Given the description of an element on the screen output the (x, y) to click on. 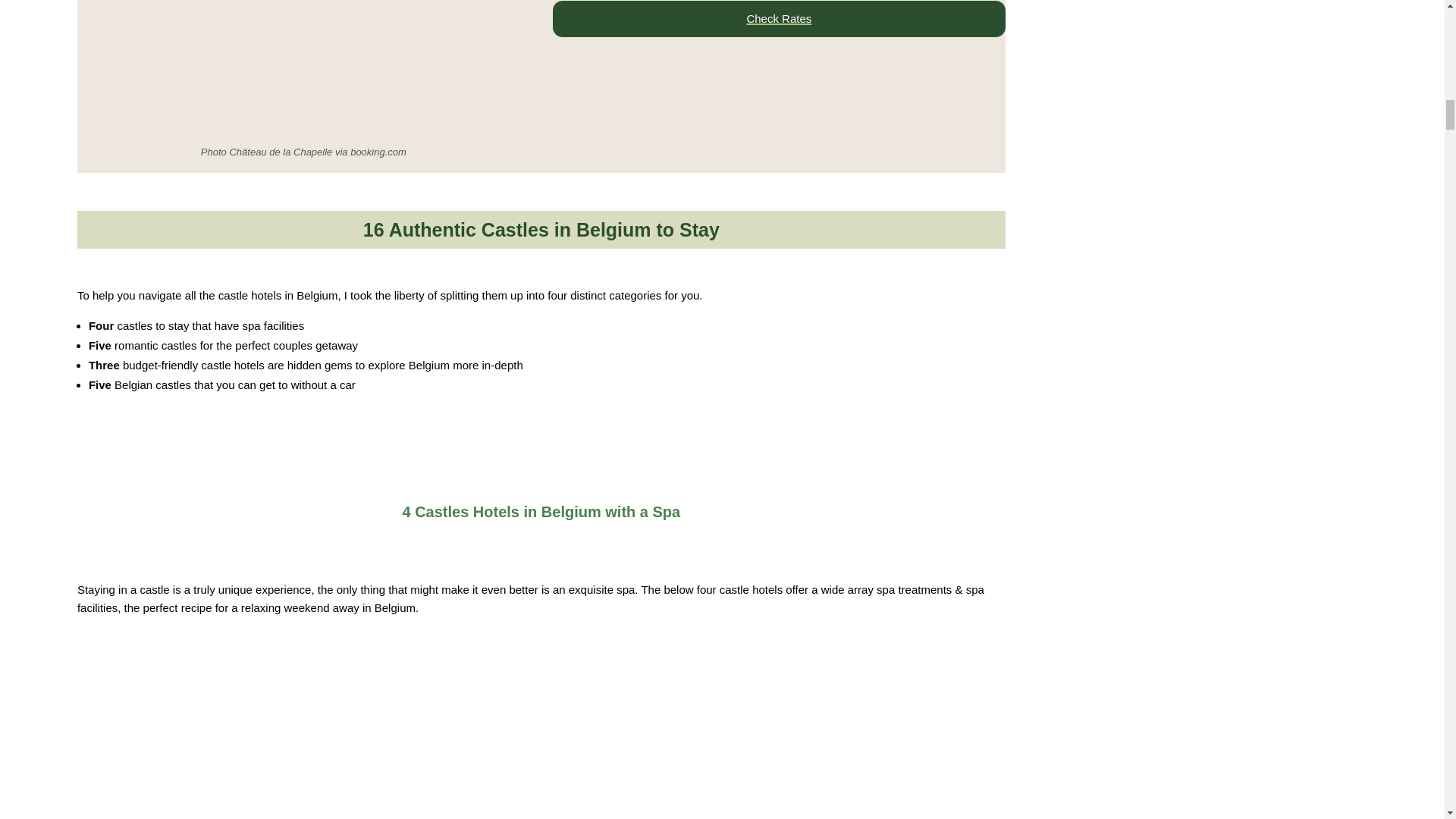
16 Castle Hotels in Belgium (465, 484)
16 Castle Hotels in Belgium (465, 540)
16 Castle Hotels in Belgium (303, 69)
16 Castle Hotels in Belgium (532, 748)
